Given the description of an element on the screen output the (x, y) to click on. 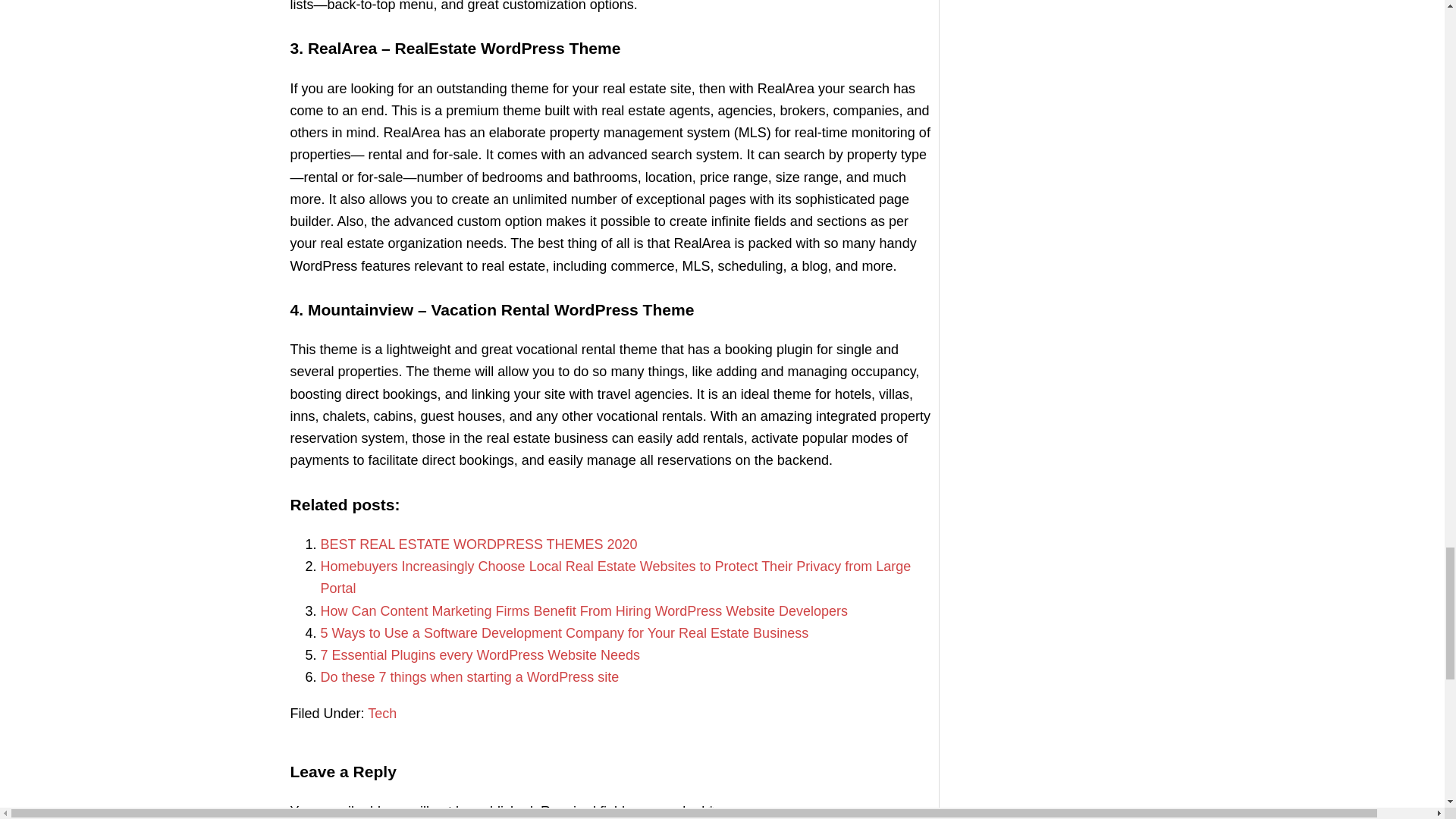
Tech (382, 713)
Do these 7 things when starting a WordPress site (469, 676)
BEST REAL ESTATE WORDPRESS THEMES 2020 (478, 544)
7 Essential Plugins every WordPress Website Needs (480, 654)
Do these 7 things when starting a WordPress site (469, 676)
